Given the description of an element on the screen output the (x, y) to click on. 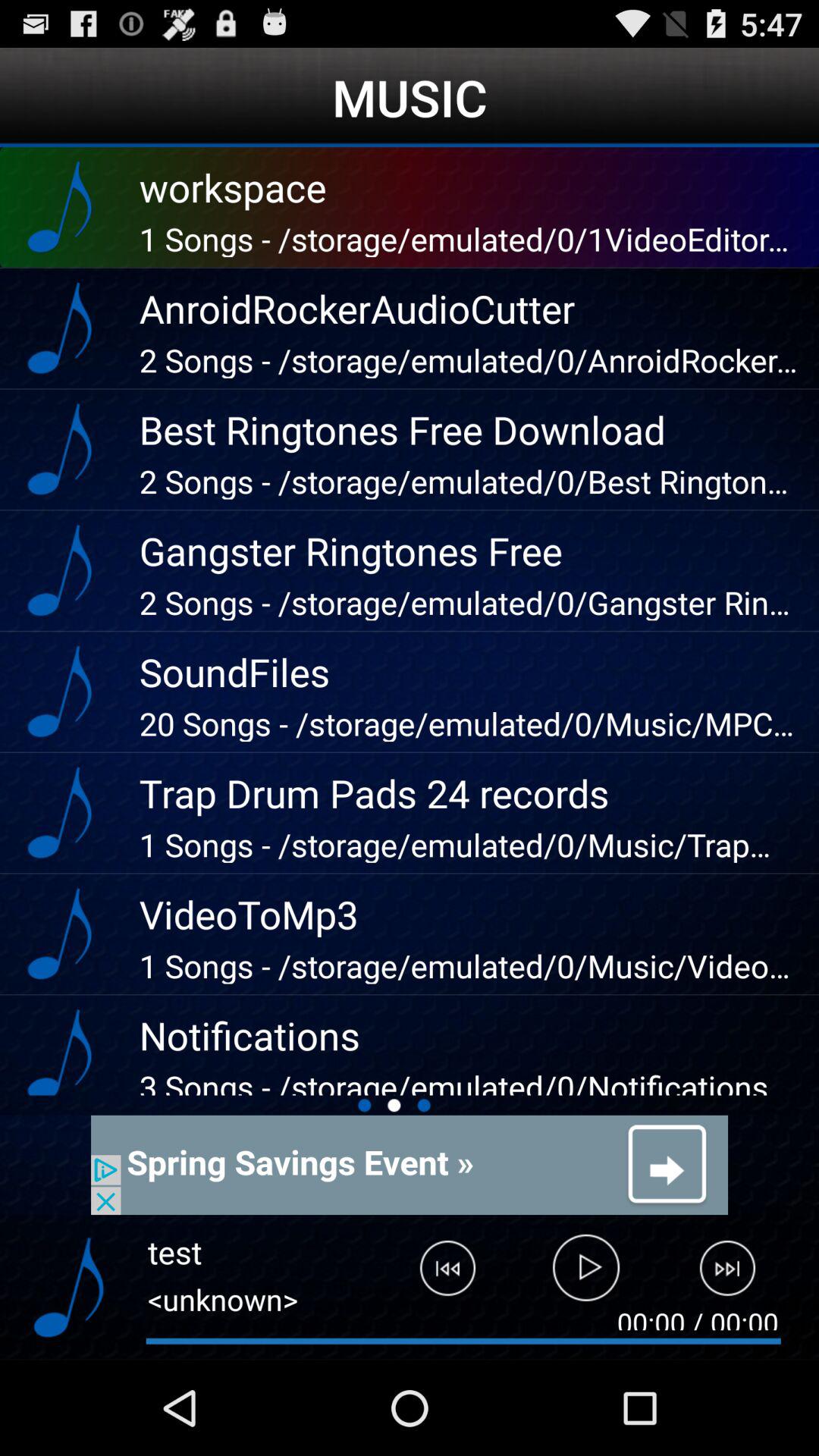
select the music optional (68, 1287)
